Given the description of an element on the screen output the (x, y) to click on. 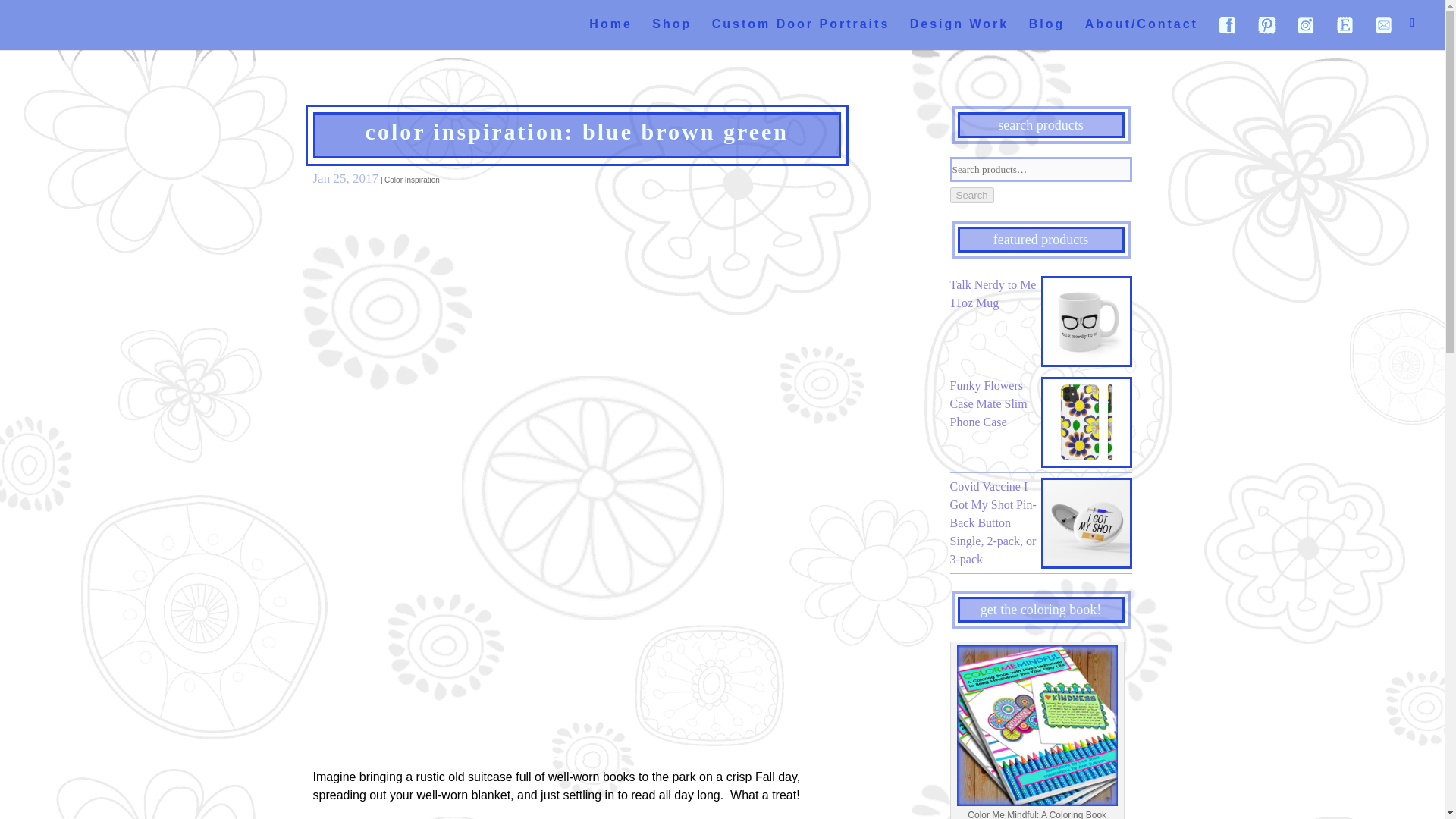
Color Inspiration (411, 180)
Talk Nerdy to Me 11oz Mug (1040, 294)
Shop (671, 31)
Blog (1047, 31)
Funky Flowers Case Mate Slim Phone Case (1040, 403)
Search (970, 195)
Design Work (959, 31)
Home (610, 31)
Custom Door Portraits (800, 31)
